Given the description of an element on the screen output the (x, y) to click on. 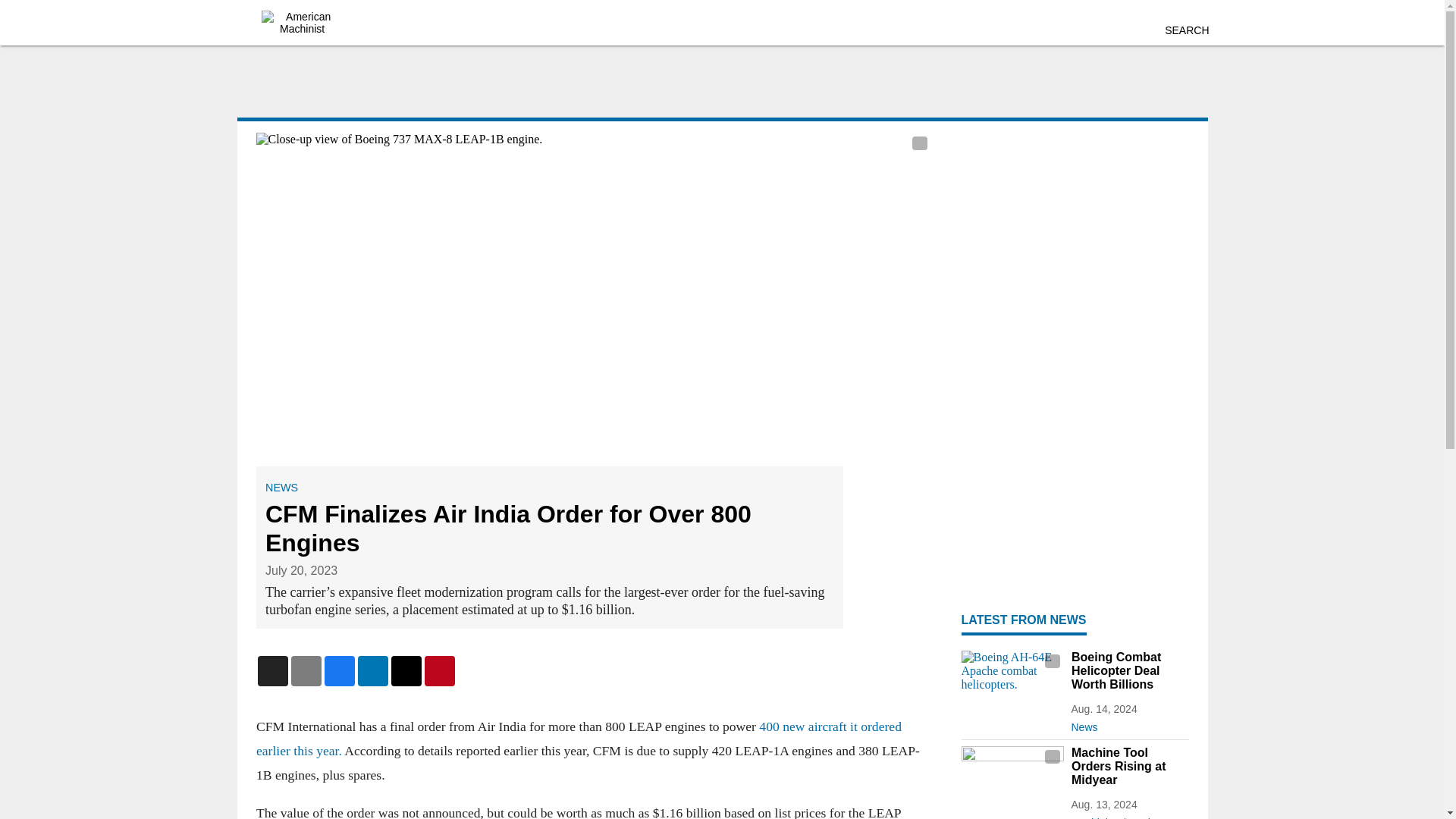
News (1129, 723)
Machine Tool Orders Rising at Midyear (1129, 766)
Boeing AH-64E Apache combat helicopters. (1012, 678)
Boeing Combat Helicopter Deal Worth Billions (1129, 670)
400 new aircraft it ordered earlier this year. (578, 738)
SEARCH (1186, 30)
NEWS (281, 487)
